Given the description of an element on the screen output the (x, y) to click on. 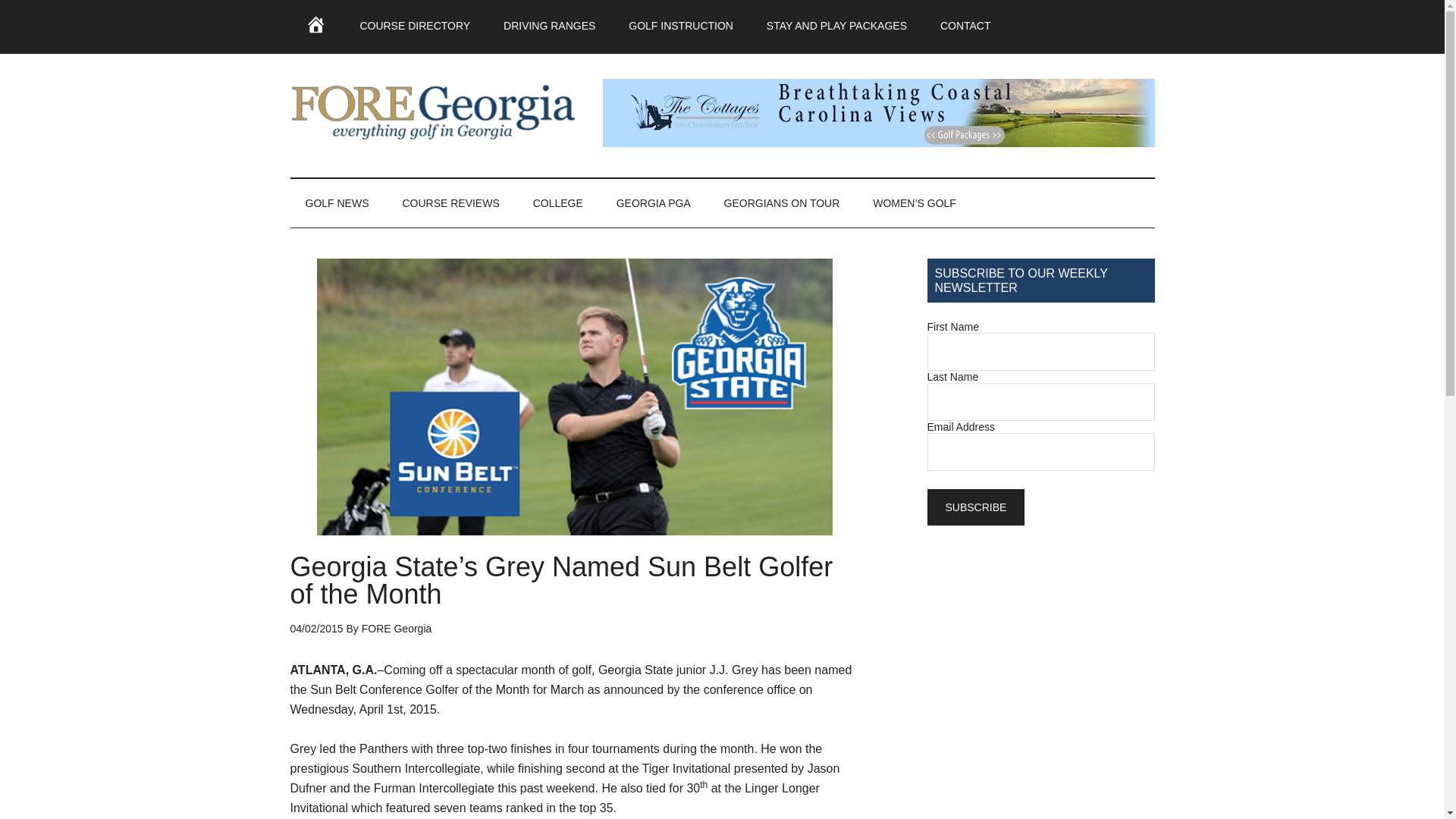
Subscribe (975, 506)
STAY AND PLAY PACKAGES (836, 25)
COLLEGE (558, 203)
Subscribe (975, 506)
HOME (314, 27)
FORE Georgia (433, 112)
FORE Georgia (396, 628)
GEORGIA PGA (653, 203)
COURSE REVIEWS (450, 203)
GOLF NEWS (336, 203)
